Given the description of an element on the screen output the (x, y) to click on. 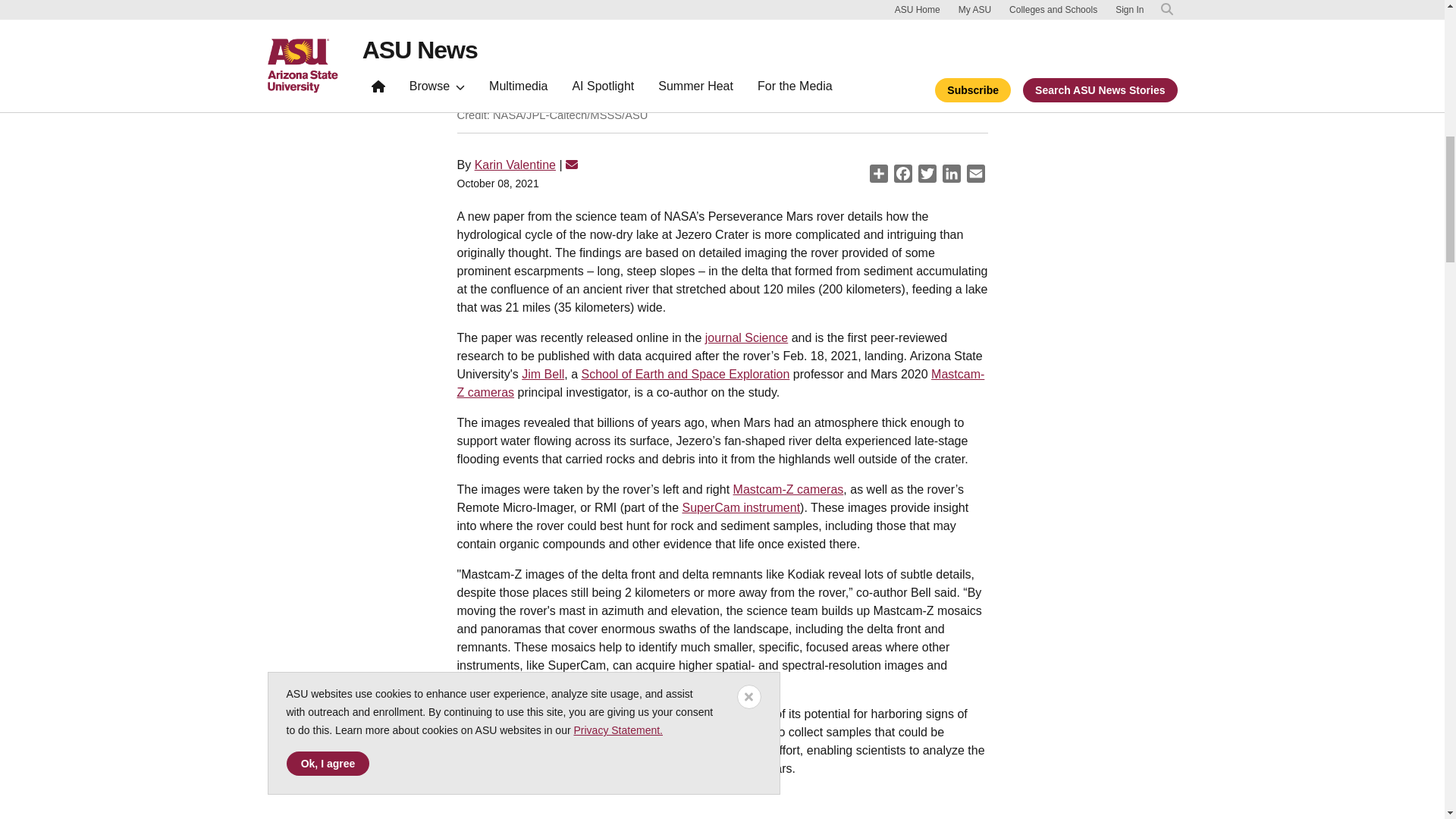
Mars: Where Next? (722, 804)
